Given the description of an element on the screen output the (x, y) to click on. 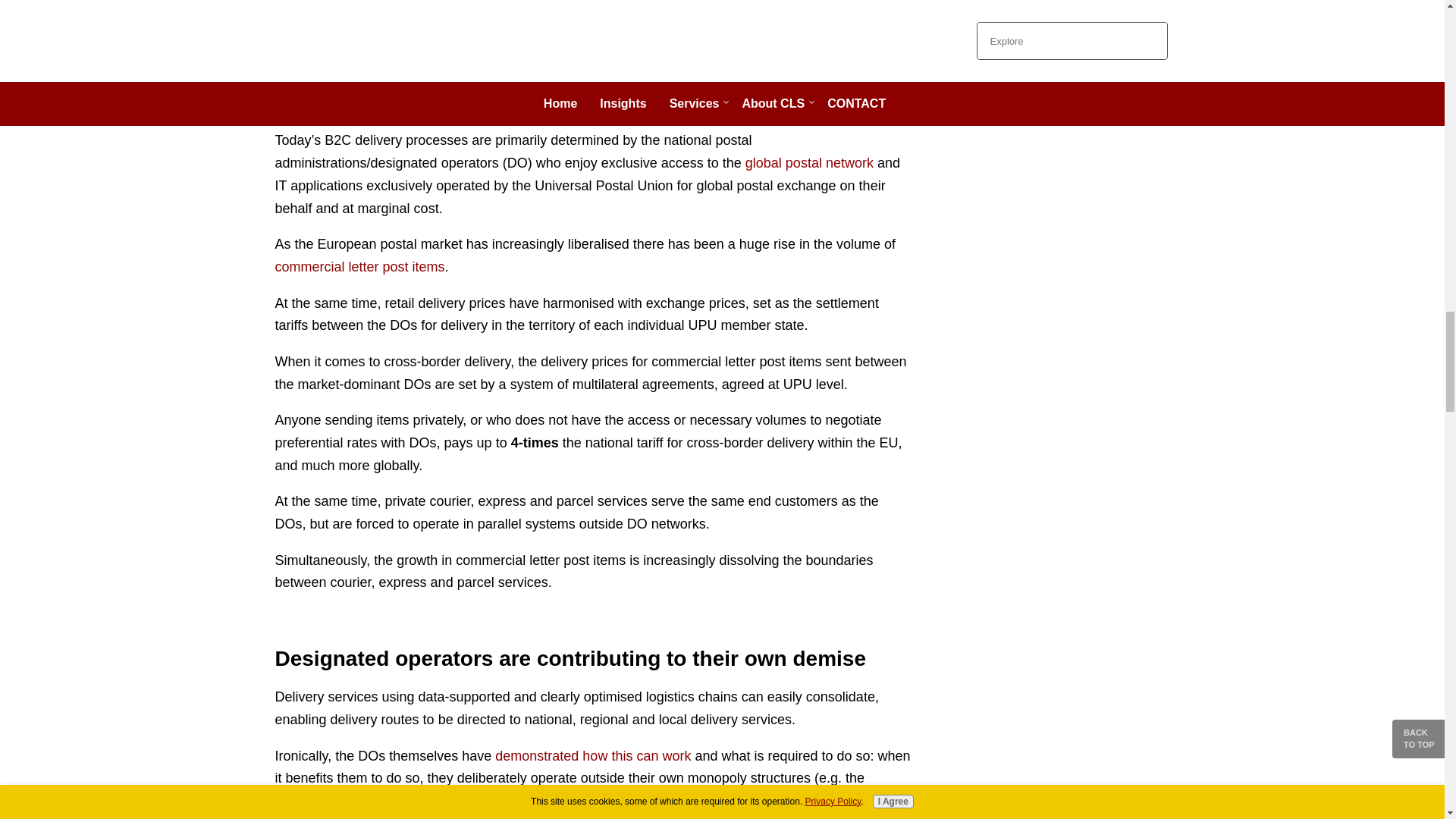
demonstrated how this can work (592, 755)
commercial letter post items (359, 266)
delivery models (460, 2)
global postal network (809, 162)
